Given the description of an element on the screen output the (x, y) to click on. 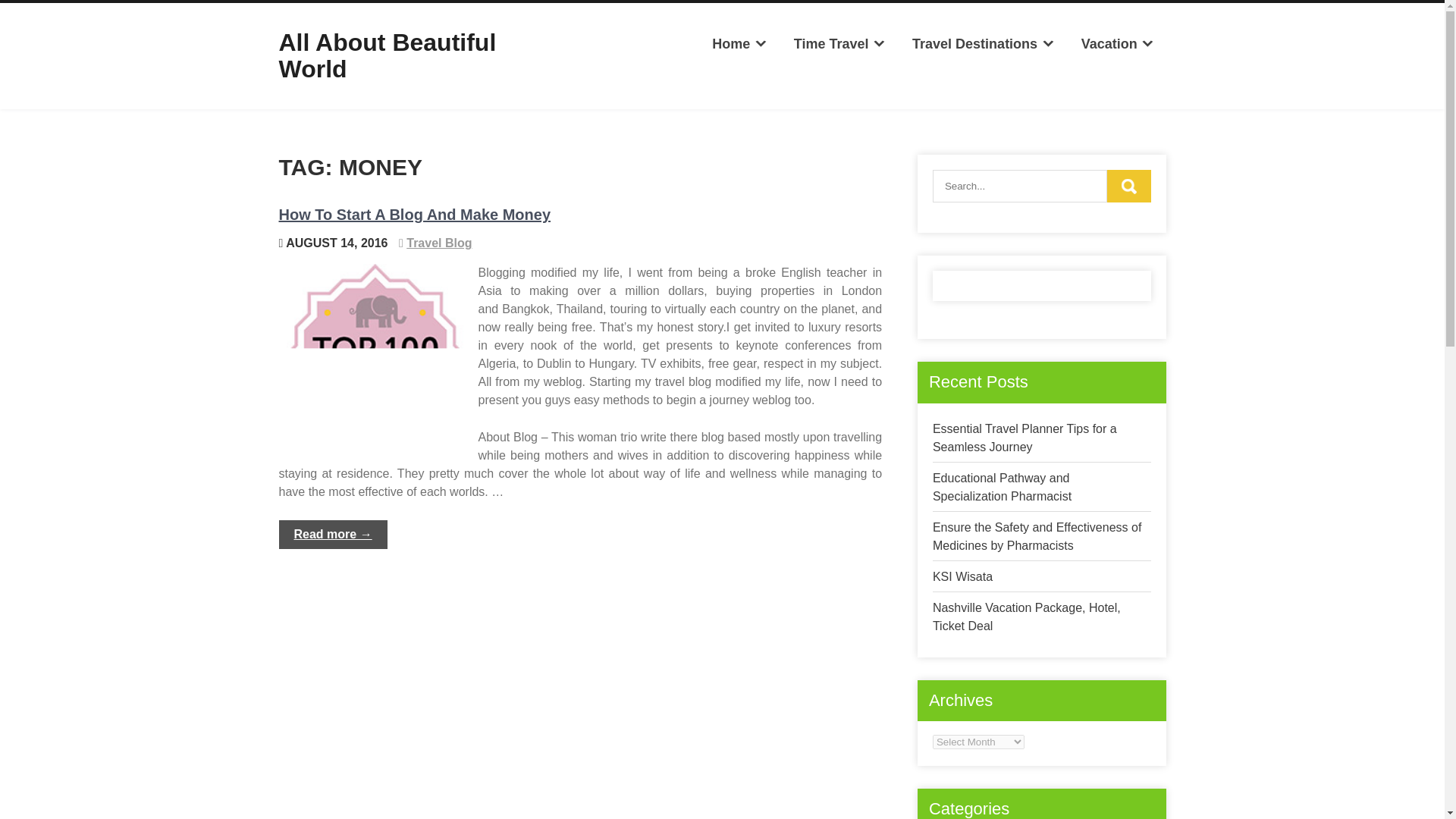
Search (1128, 185)
Nashville Vacation Package, Hotel, Ticket Deal (1027, 616)
Search (1128, 185)
Search (1128, 185)
Travel Destinations (983, 44)
All About Beautiful World (387, 55)
Vacation (1117, 44)
Home (739, 44)
Travel Blog (438, 242)
Educational Pathway and Specialization Pharmacist (1002, 486)
Essential Travel Planner Tips for a Seamless Journey (1024, 437)
How To Start A Blog And Make Money (415, 214)
KSI Wisata (962, 576)
Time Travel (838, 44)
